Given the description of an element on the screen output the (x, y) to click on. 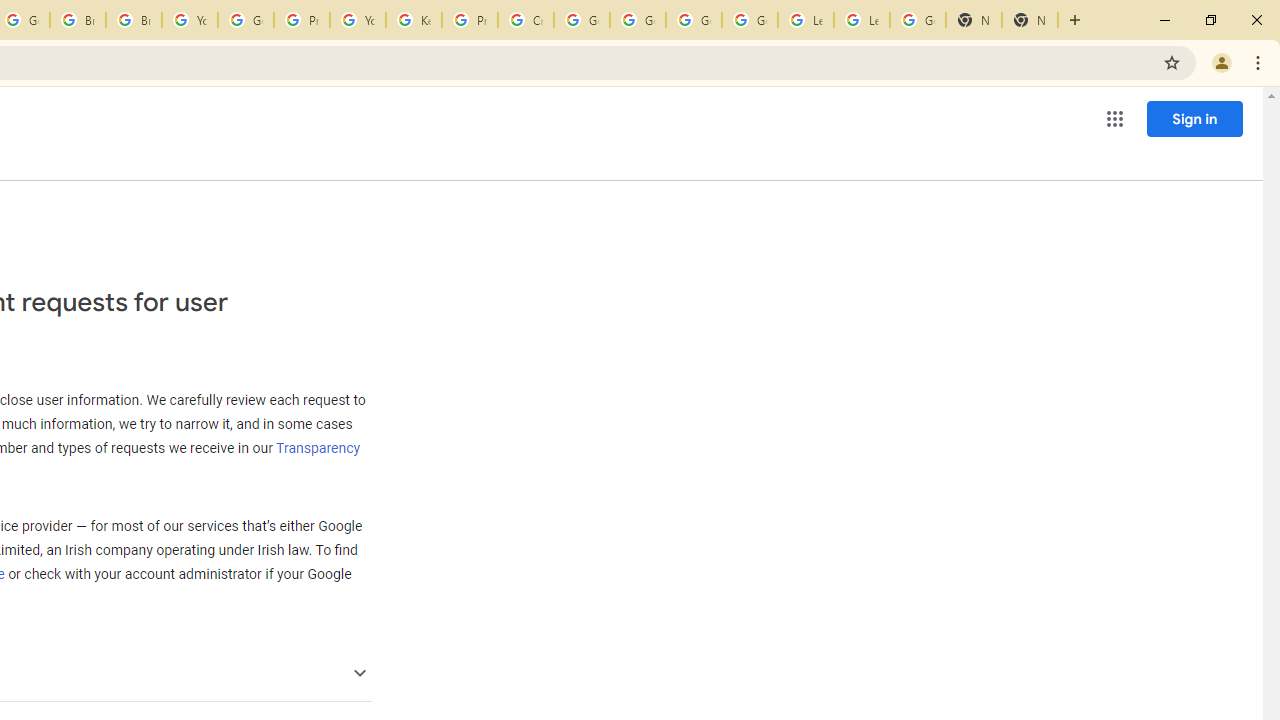
Google Account Help (245, 20)
YouTube (189, 20)
Google Account Help (749, 20)
New Tab (973, 20)
New Tab (1030, 20)
Google Account (917, 20)
